Given the description of an element on the screen output the (x, y) to click on. 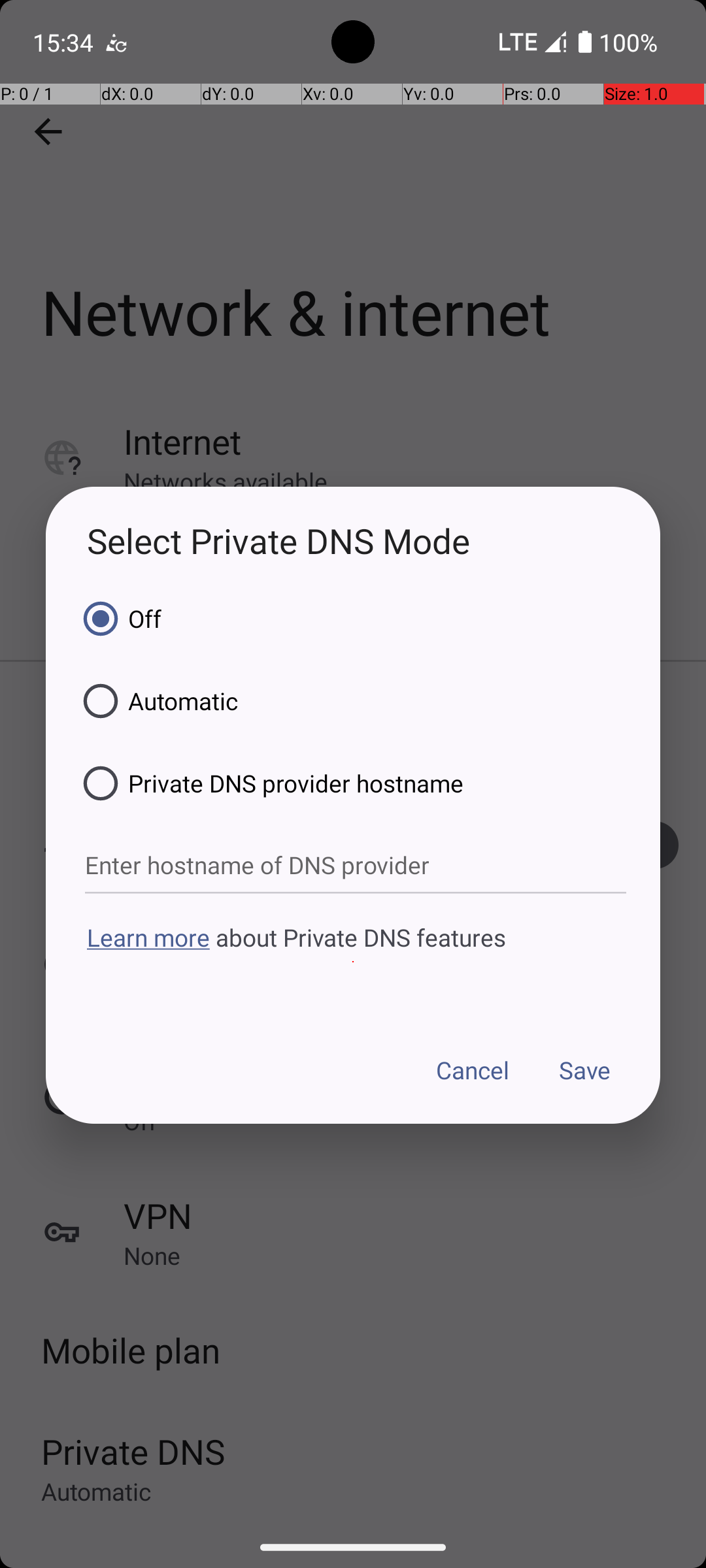
Select Private DNS Mode Element type: android.widget.TextView (352, 540)
Learn more about Private DNS features Element type: android.widget.TextView (352, 961)
Automatic Element type: android.widget.RadioButton (155, 700)
Private DNS provider hostname Element type: android.widget.RadioButton (268, 783)
Enter hostname of DNS provider Element type: android.widget.EditText (355, 865)
